Given the description of an element on the screen output the (x, y) to click on. 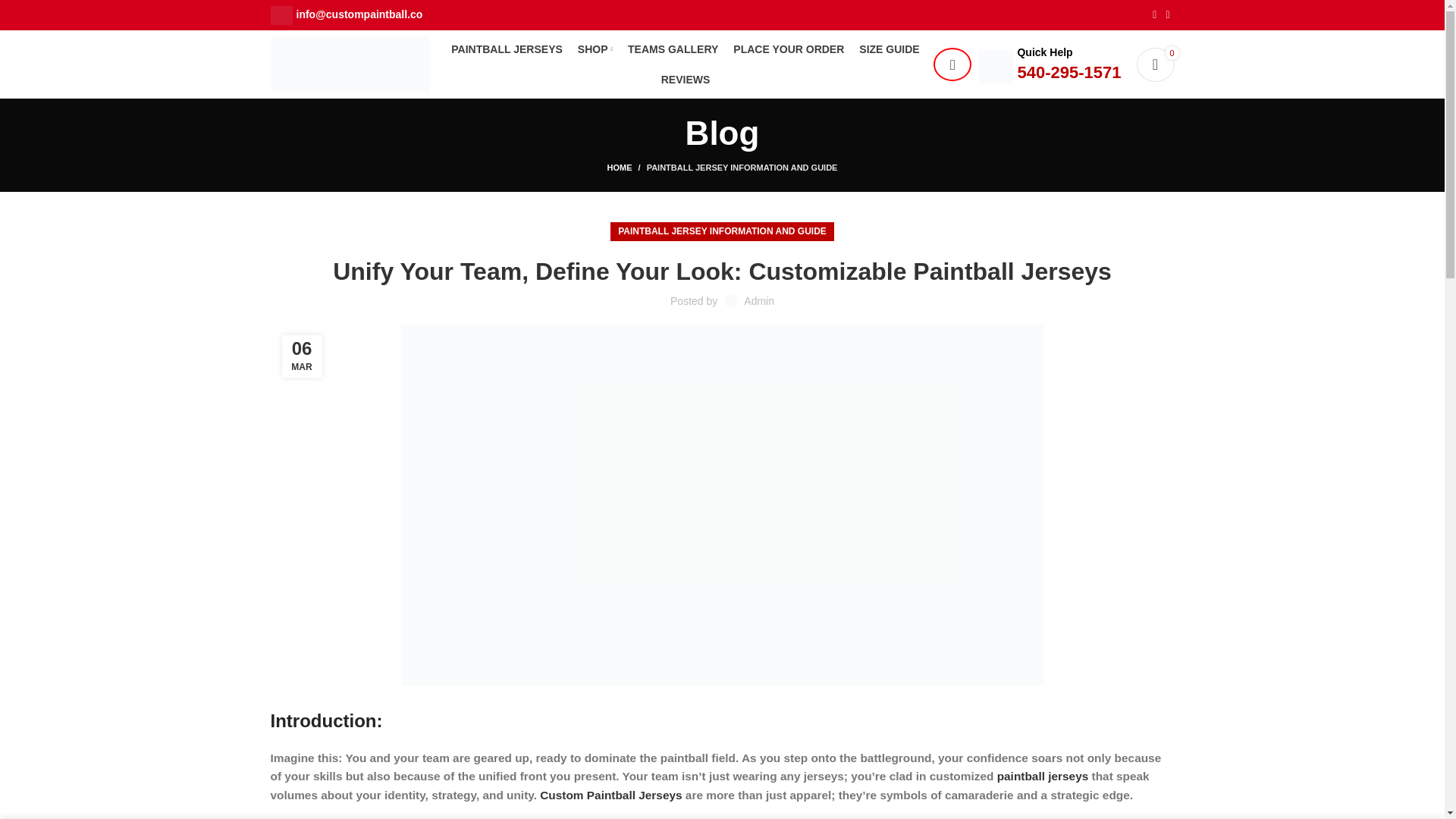
SHOP (595, 49)
PAINTBALL JERSEYS (507, 49)
Search (952, 64)
phone (995, 66)
PLACE YOUR ORDER (788, 49)
TEAMS GALLERY (672, 49)
REVIEWS (685, 79)
SIZE GUIDE (888, 49)
Shopping cart (1154, 64)
mail (280, 15)
